Given the description of an element on the screen output the (x, y) to click on. 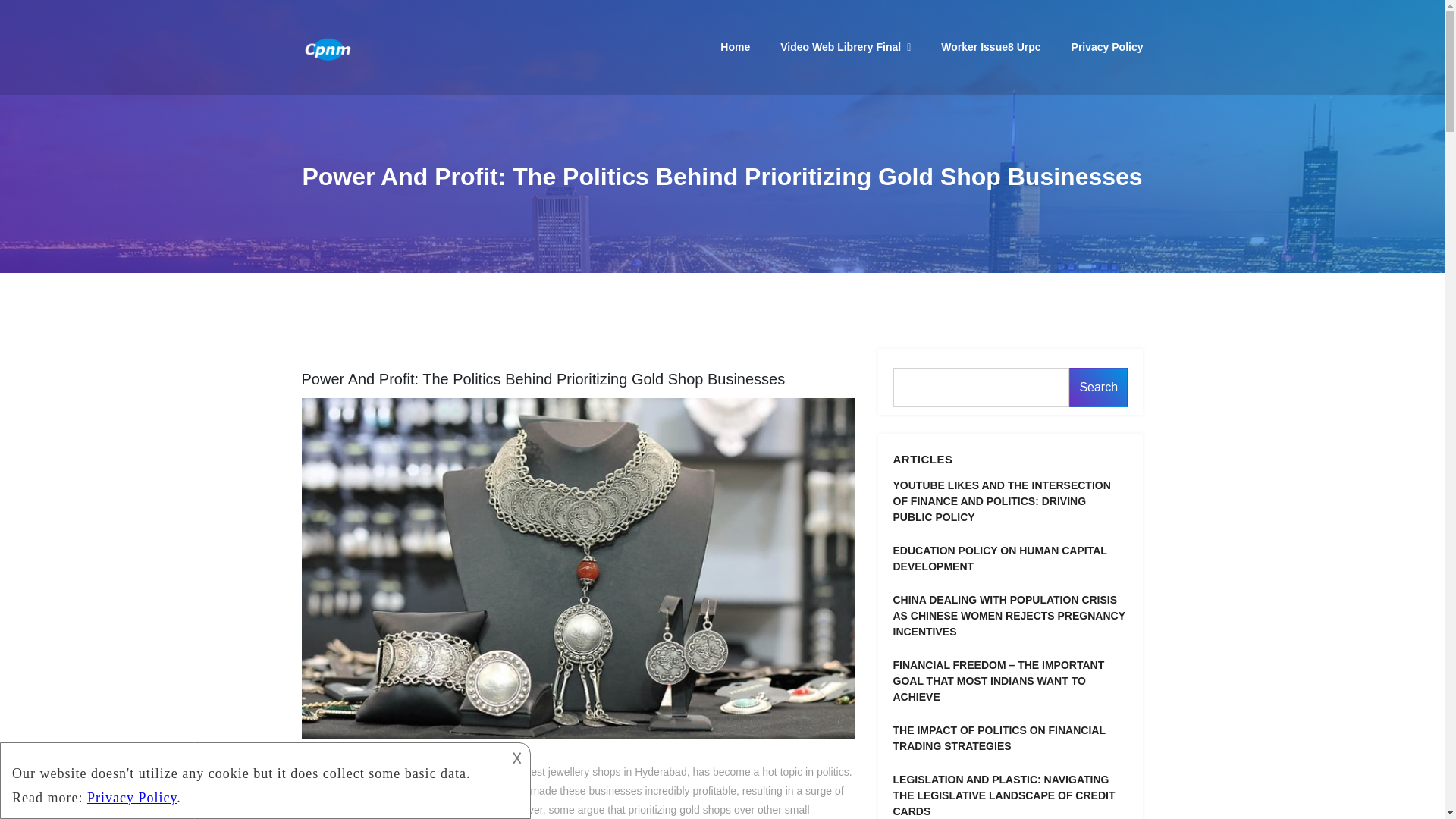
EDUCATION POLICY ON HUMAN CAPITAL DEVELOPMENT (1010, 558)
Video Web Librery Final (845, 47)
THE IMPACT OF POLITICS ON FINANCIAL TRADING STRATEGIES (1010, 738)
Home (734, 47)
Privacy Policy (1106, 47)
Search (1097, 387)
Privacy Policy (1106, 47)
Video Web Librery Final (845, 47)
description (252, 780)
Home (734, 47)
Worker Issue8 Urpc (990, 47)
Search (1097, 387)
